Given the description of an element on the screen output the (x, y) to click on. 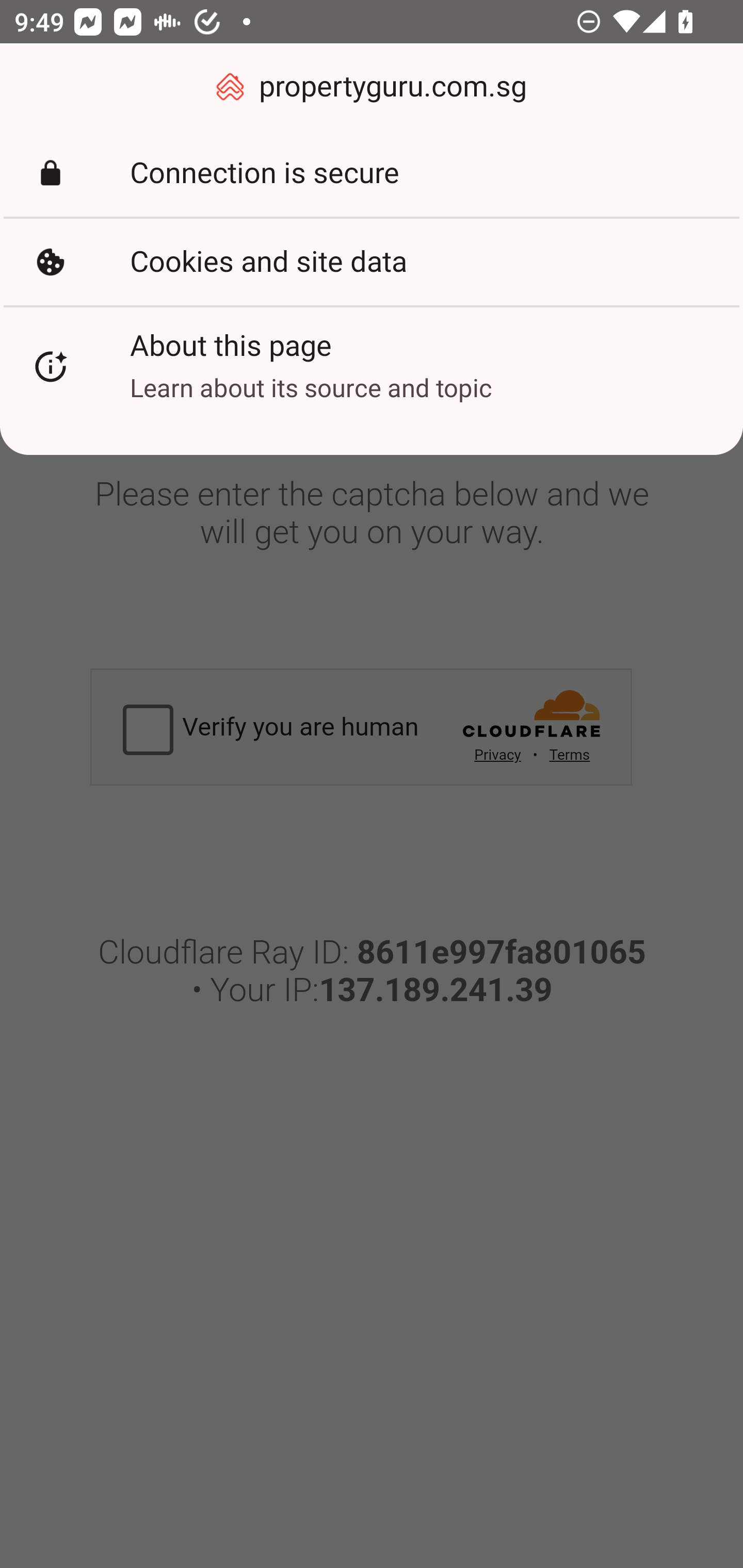
propertyguru.com.sg (371, 86)
Connection is secure (371, 173)
Cookies and site data (371, 261)
About this page Learn about its source and topic (371, 366)
